Given the description of an element on the screen output the (x, y) to click on. 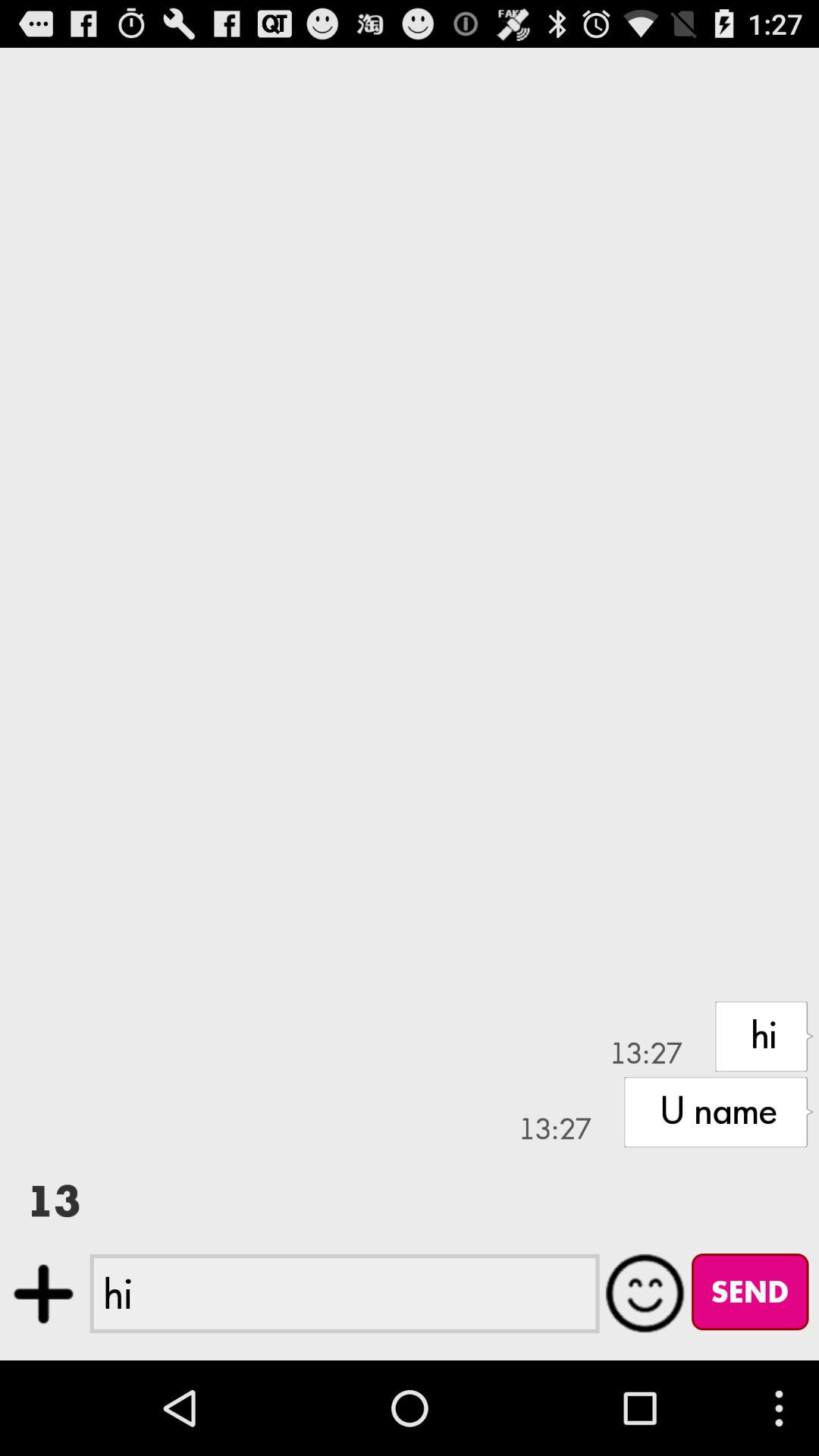
toggle emoji option (645, 1293)
